Given the description of an element on the screen output the (x, y) to click on. 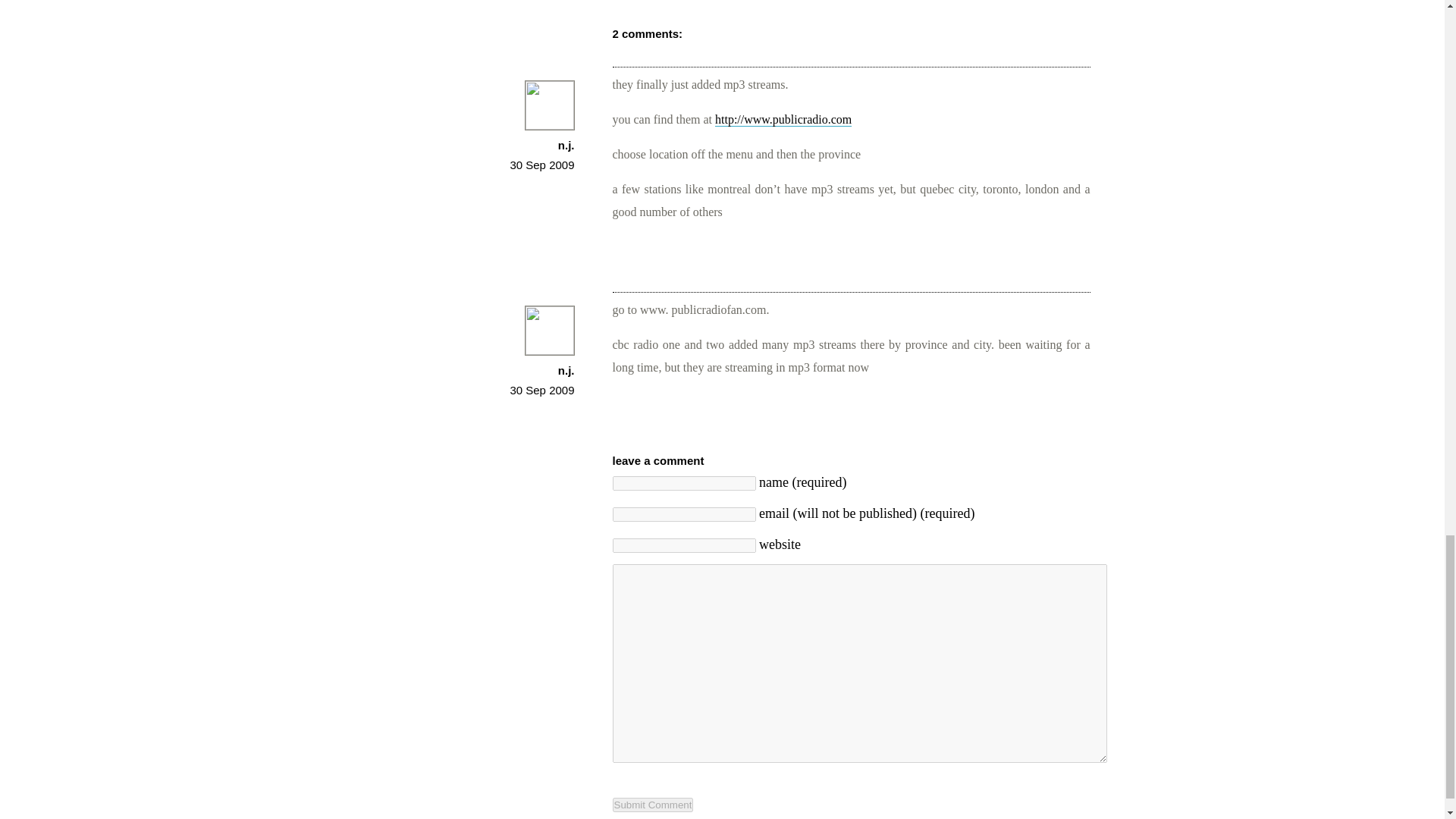
30 Sep 2009 (541, 390)
comment permalink (541, 390)
Submit Comment (653, 804)
30 Sep 2009 (541, 164)
Submit Comment (653, 804)
comment permalink (541, 164)
